Given the description of an element on the screen output the (x, y) to click on. 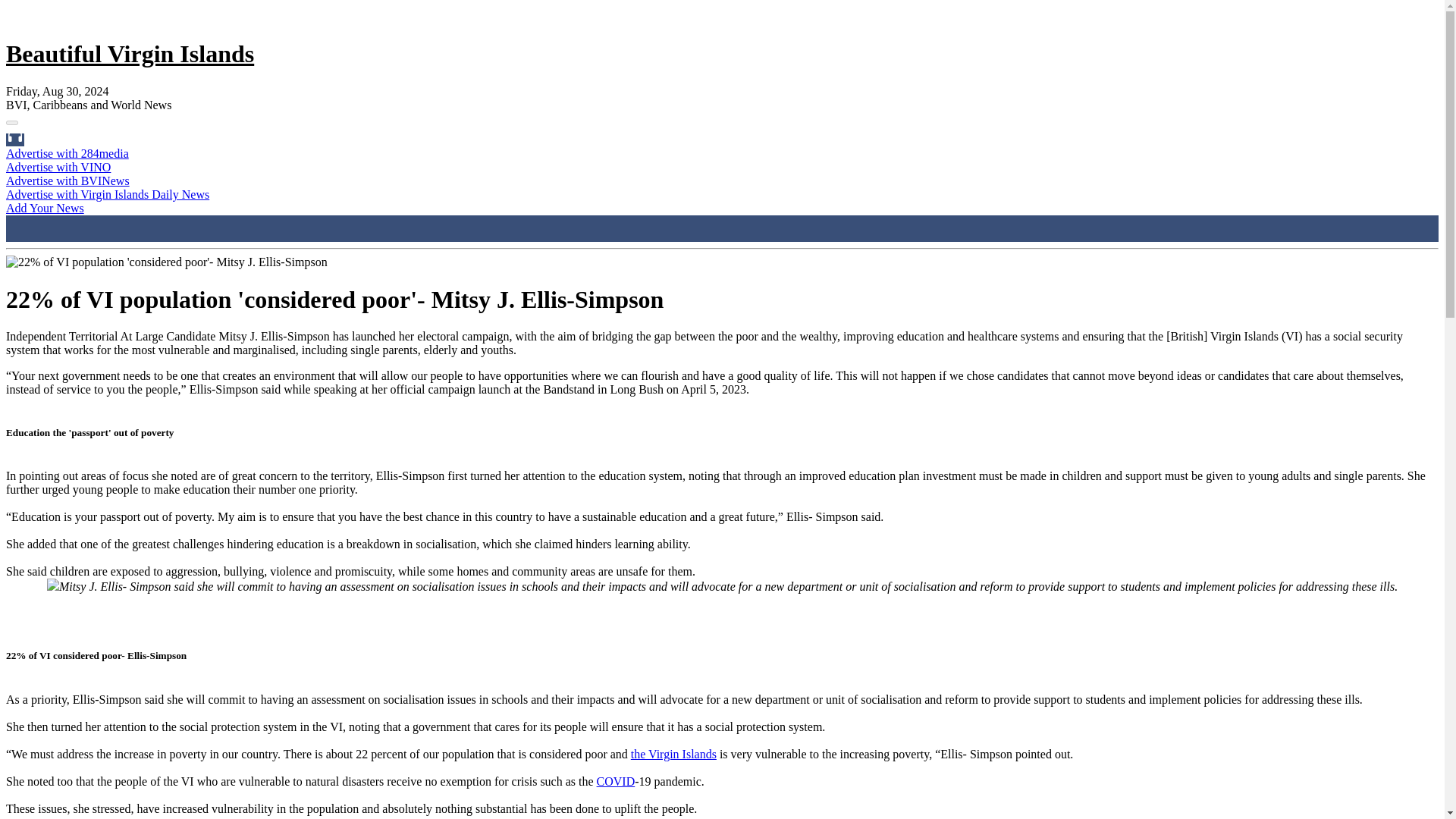
the Virgin Islands (673, 753)
Add Your News (44, 207)
Advertise with 284media (67, 153)
COVID (615, 780)
Beautiful Virgin Islands (129, 53)
Advertise with VINO (57, 166)
Advertise with BVINews (67, 180)
Advertise with Virgin Islands Daily News (107, 194)
